Given the description of an element on the screen output the (x, y) to click on. 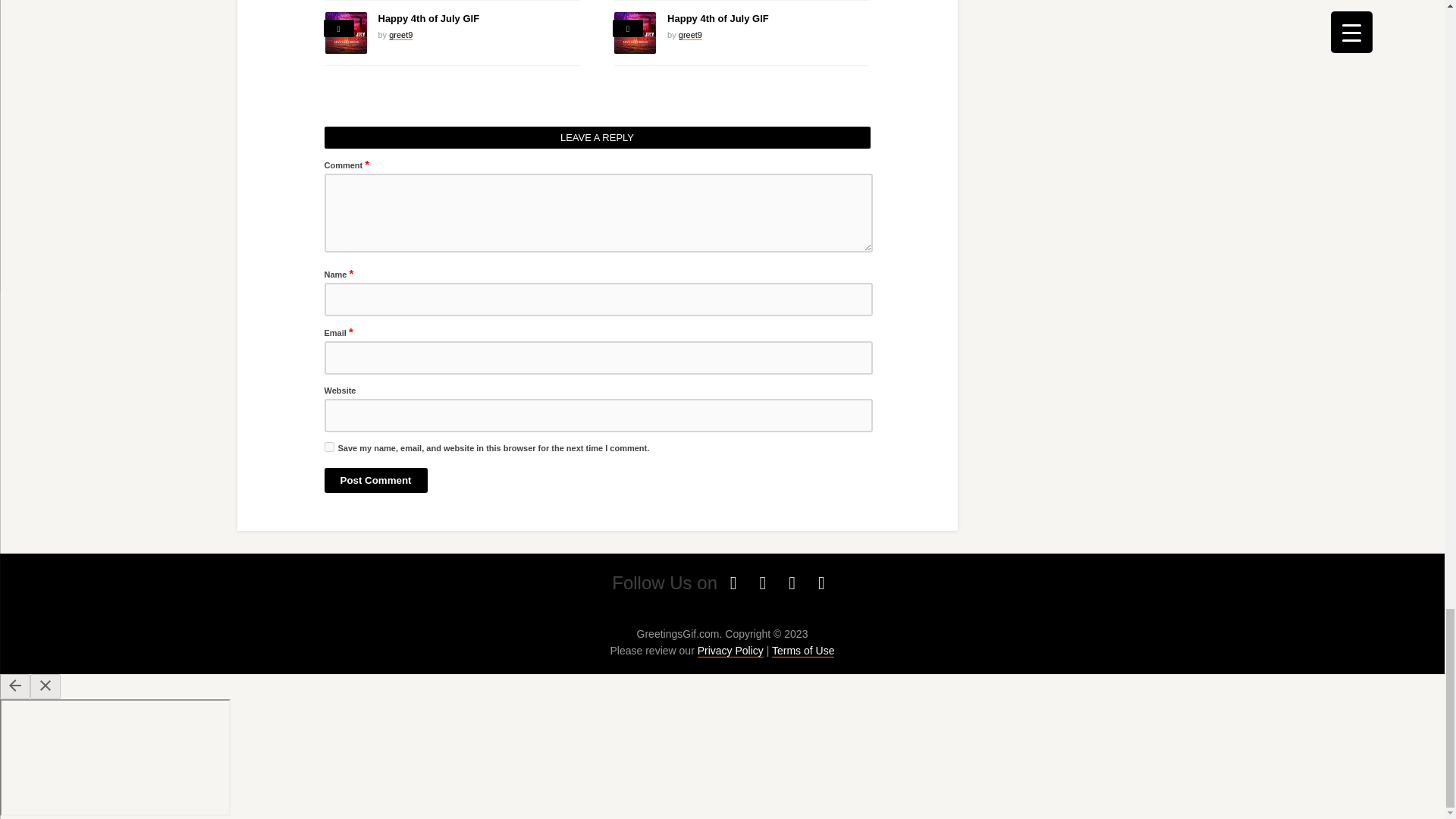
yes (329, 447)
Post Comment (376, 480)
